Given the description of an element on the screen output the (x, y) to click on. 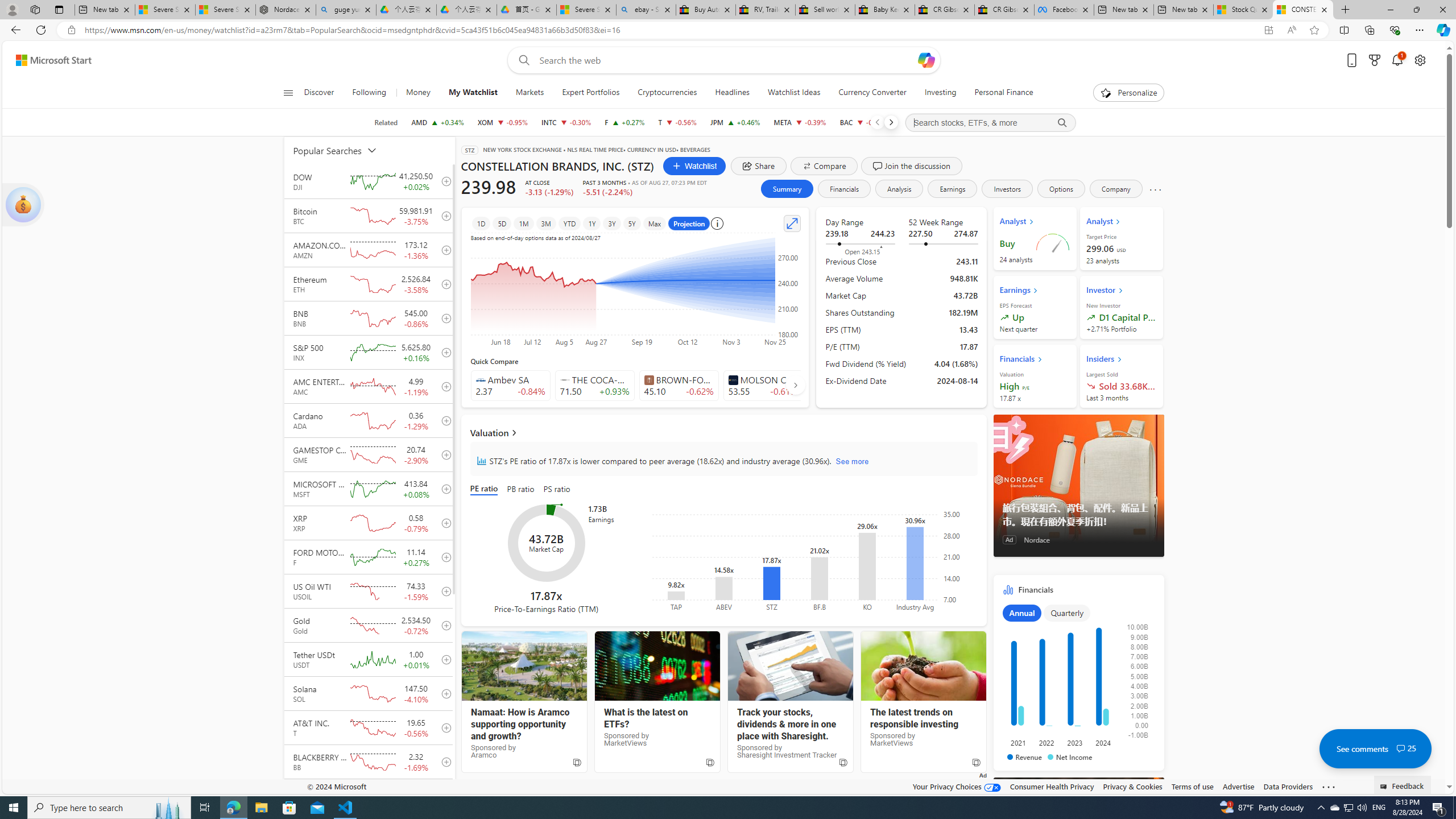
App available. Install Start Money (1268, 29)
Analysis (899, 188)
Class: oneFooter_seeMore-DS-EntryPoint1-1 (1328, 786)
